Given the description of an element on the screen output the (x, y) to click on. 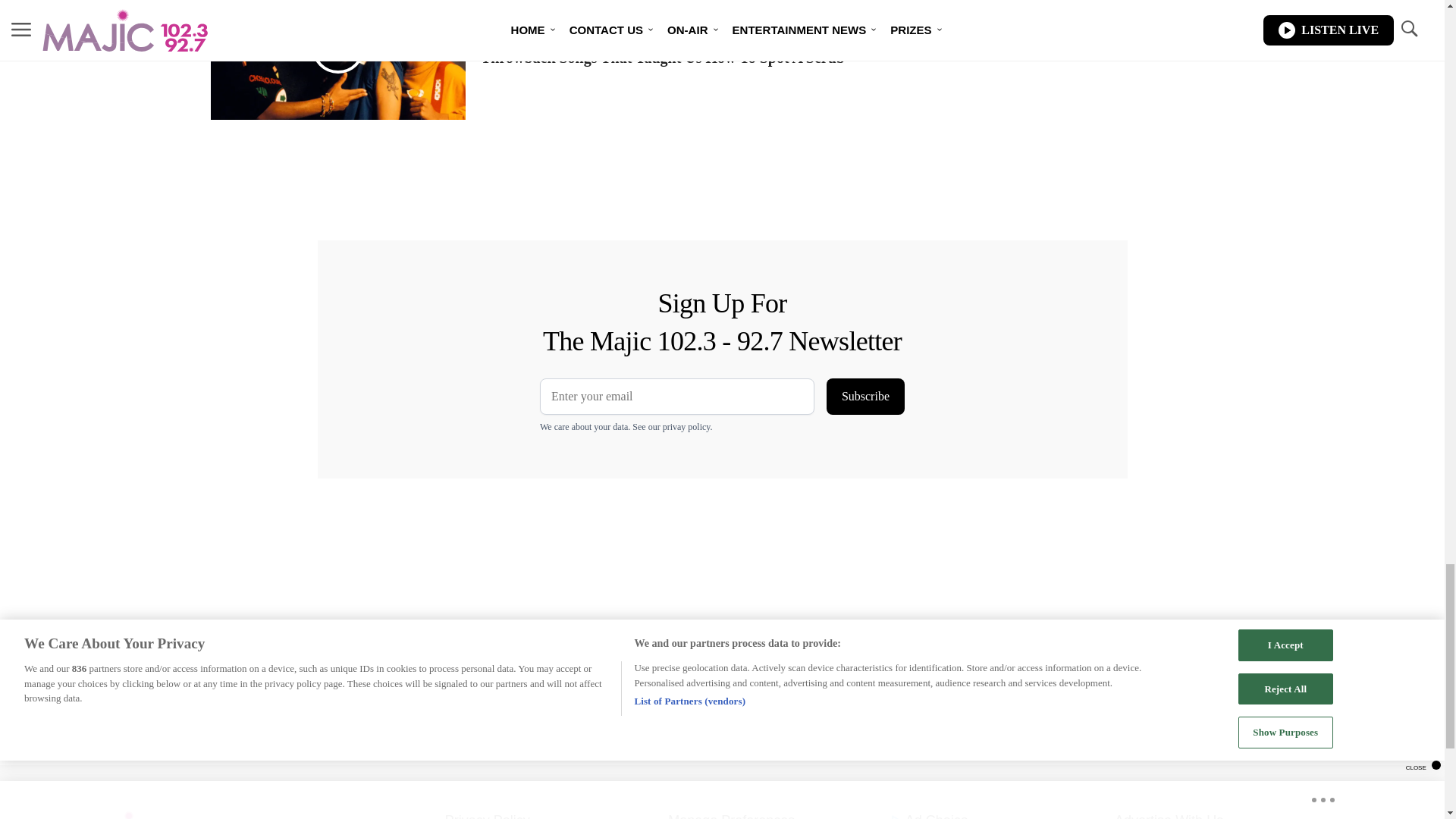
Media Playlist (338, 46)
